Given the description of an element on the screen output the (x, y) to click on. 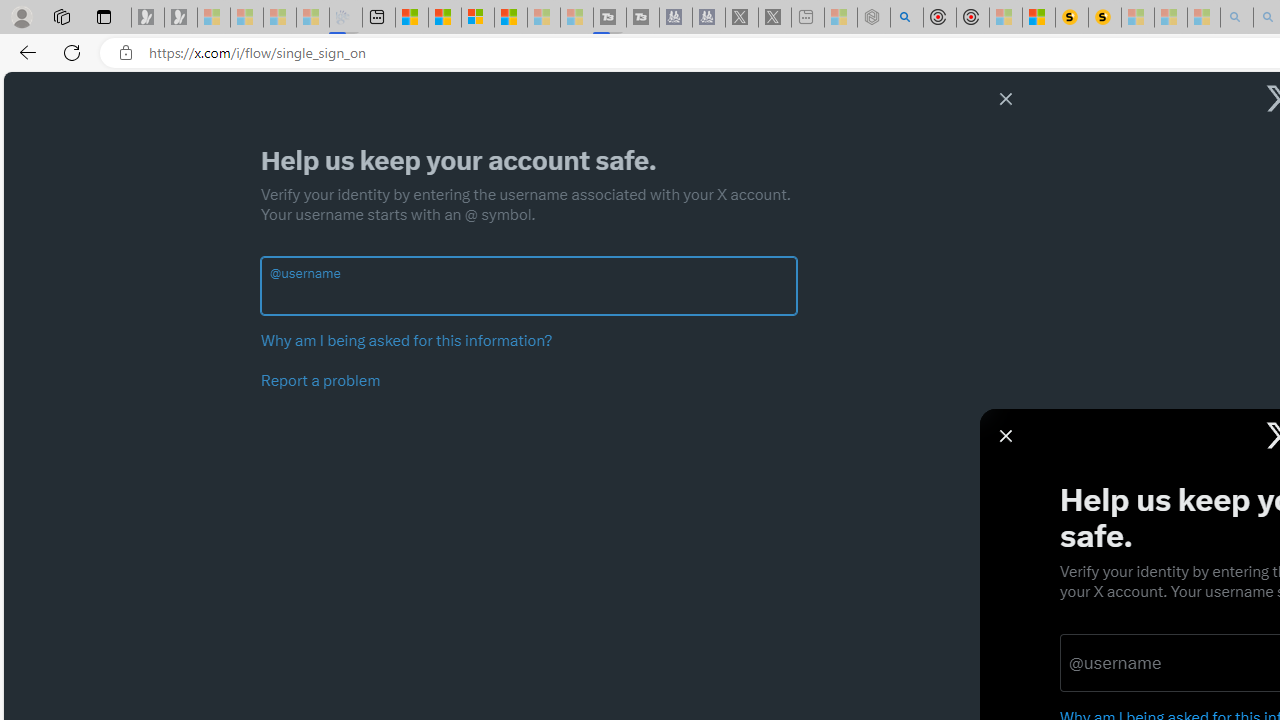
Why am I being asked for this information? (406, 340)
Streaming Coverage | T3 - Sleeping (609, 17)
Overview (478, 17)
@username (529, 295)
poe - Search (906, 17)
